Given the description of an element on the screen output the (x, y) to click on. 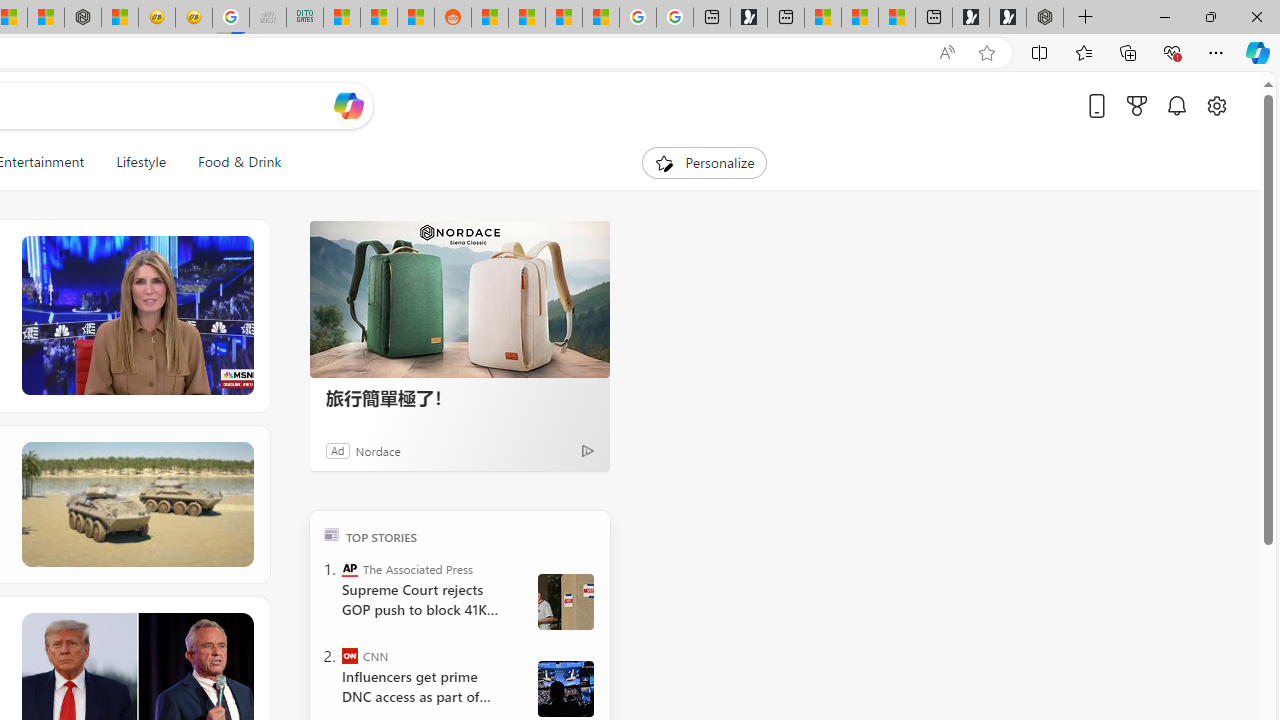
Notifications (1176, 105)
Ad (338, 450)
Microsoft rewards (1137, 105)
CNN (349, 655)
Microsoft Start Gaming (748, 17)
See more (239, 626)
Nordace (377, 450)
Open settings (1216, 105)
Personalize (703, 162)
